Given the description of an element on the screen output the (x, y) to click on. 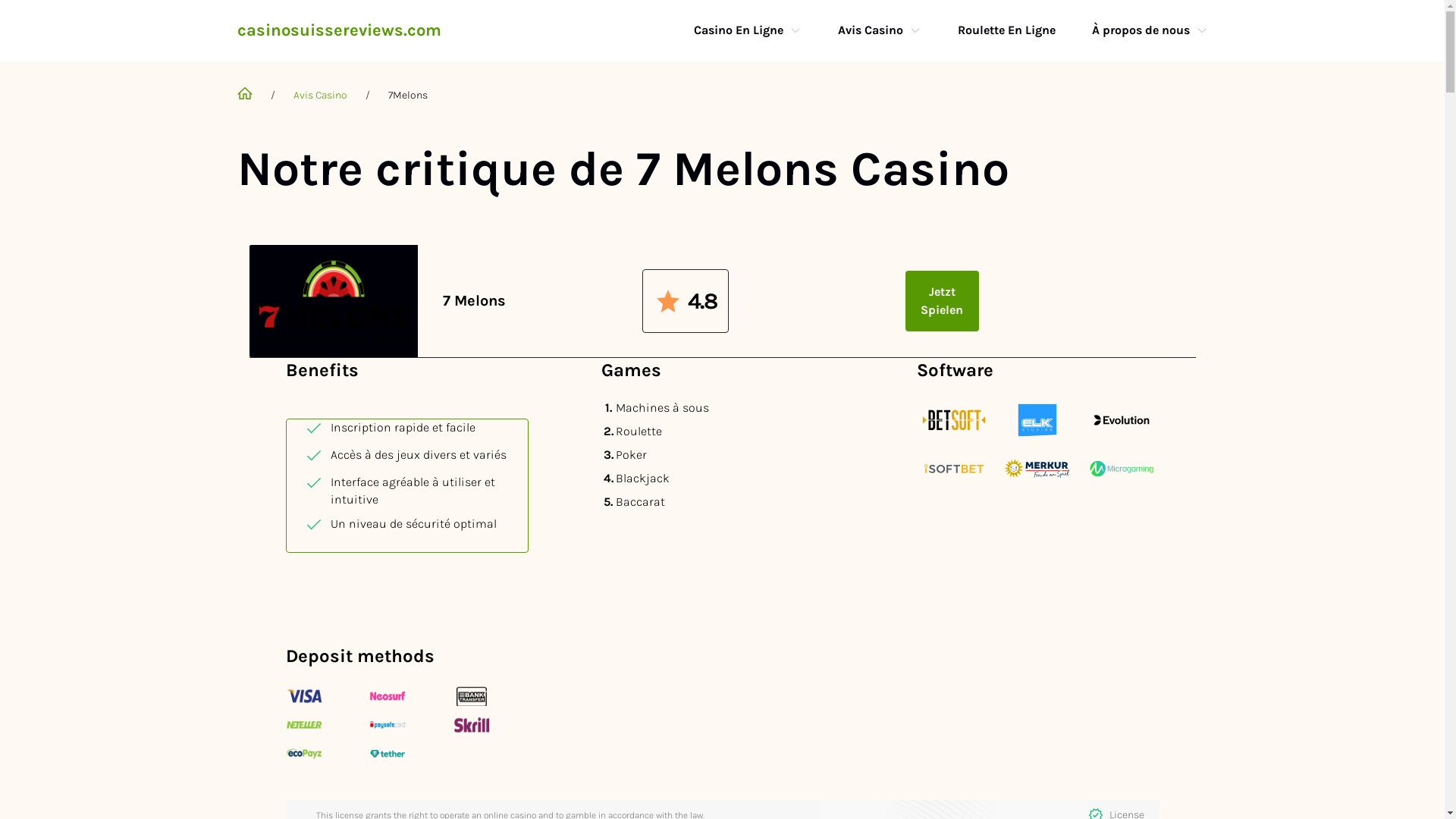
Avis Casino Element type: text (869, 30)
Jetzt Spielen Element type: text (942, 300)
Casino En Ligne Element type: text (737, 30)
casinosuissereviews.com Element type: text (338, 29)
Avis Casino Element type: text (319, 95)
Roulette En Ligne Element type: text (1005, 30)
